Given the description of an element on the screen output the (x, y) to click on. 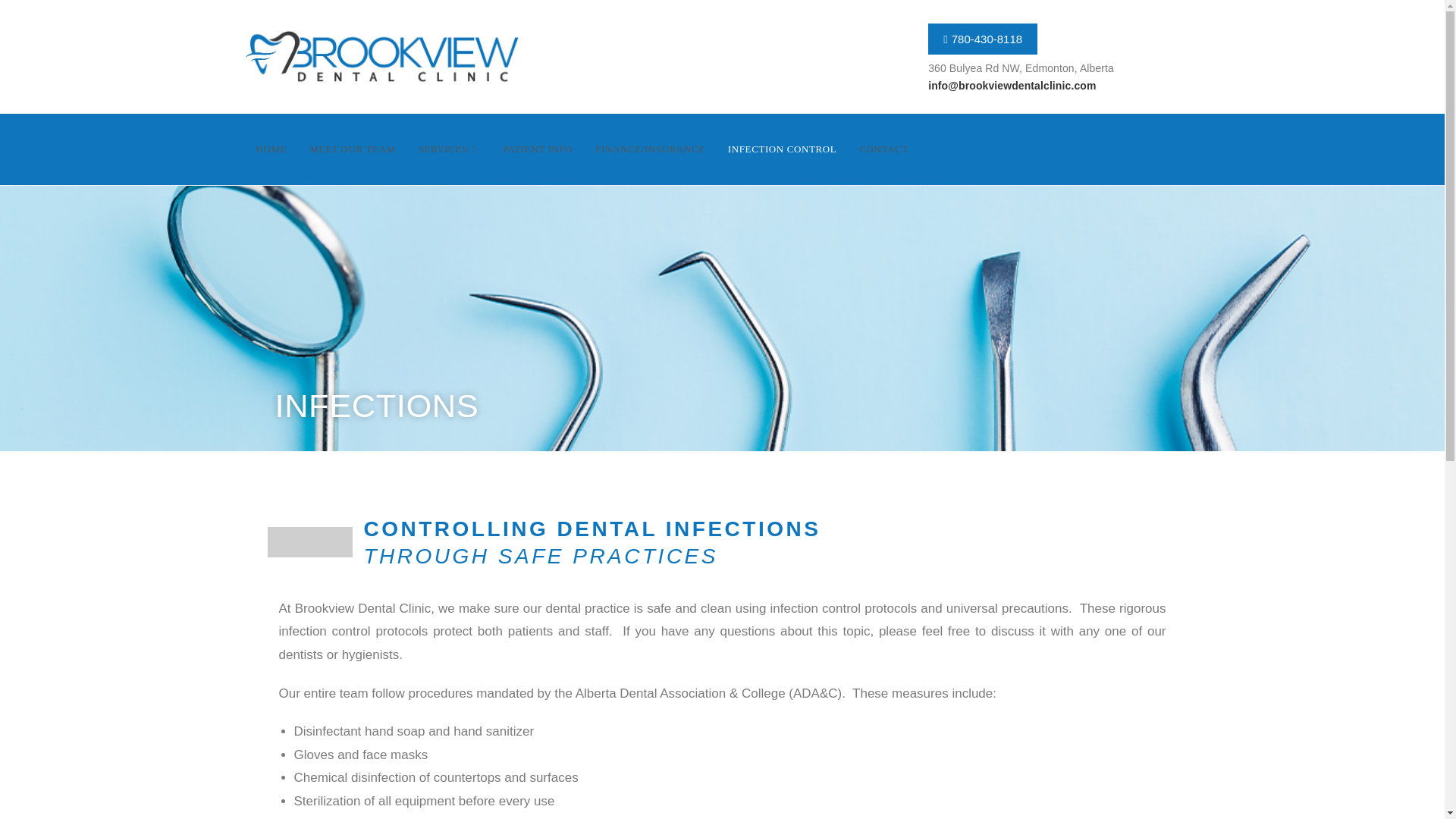
780-430-8118 (982, 38)
INFECTION CONTROL (781, 149)
PATIENT INFO (537, 149)
HOME (271, 149)
MEET OUR TEAM (352, 149)
CONTACT (883, 149)
SERVICES (449, 149)
